Given the description of an element on the screen output the (x, y) to click on. 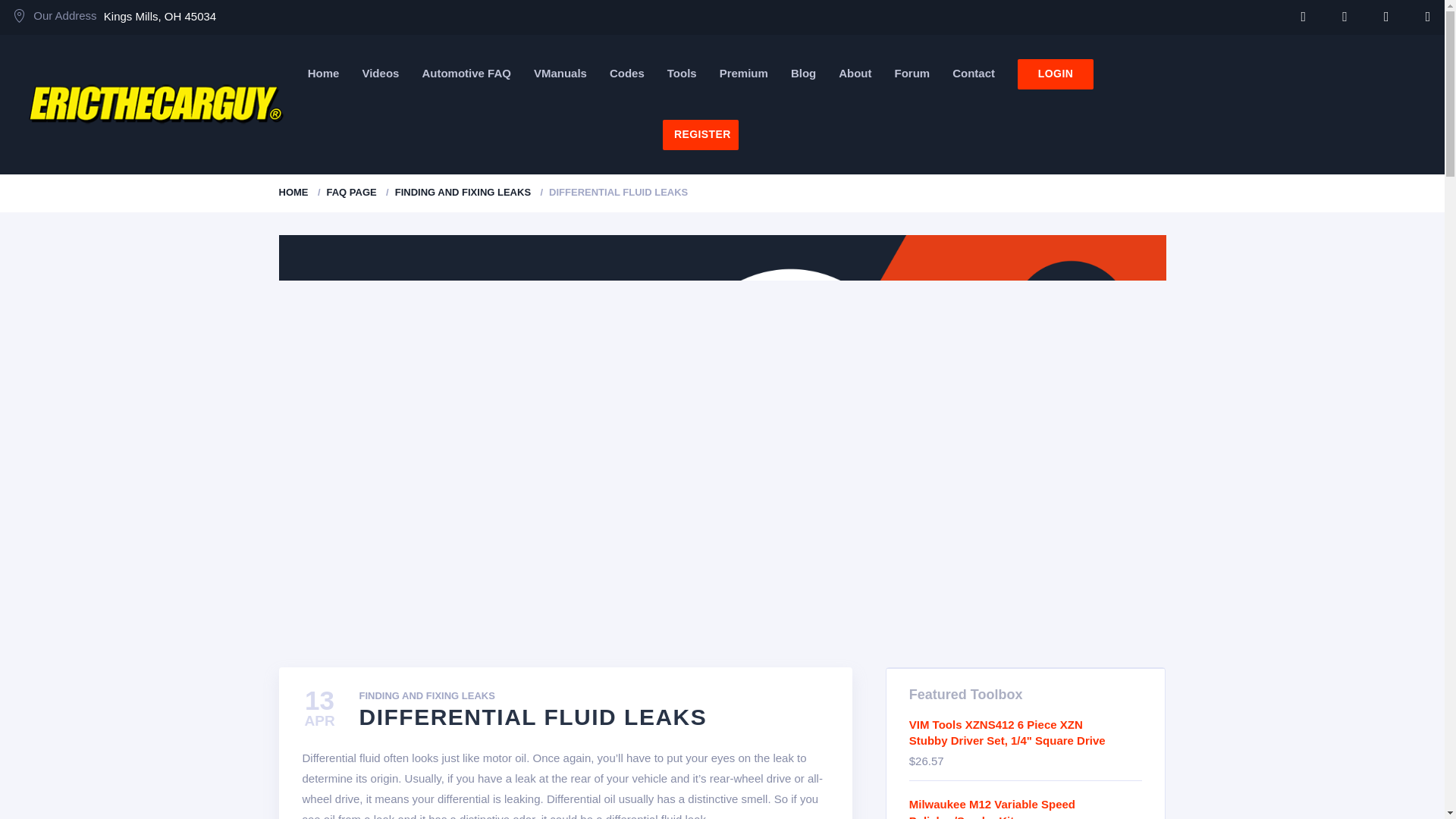
Home (323, 73)
FINDING AND FIXING LEAKS (427, 696)
FAQ PAGE (350, 192)
Forum (912, 73)
Tools (681, 73)
HOME (293, 192)
Kings Mills, OH 45034 (159, 15)
FINDING AND FIXING LEAKS (462, 192)
LOGIN (1055, 73)
VManuals (560, 73)
Premium (743, 73)
Blog (802, 73)
Contact (973, 73)
Codes (627, 73)
Automotive FAQ (466, 73)
